Given the description of an element on the screen output the (x, y) to click on. 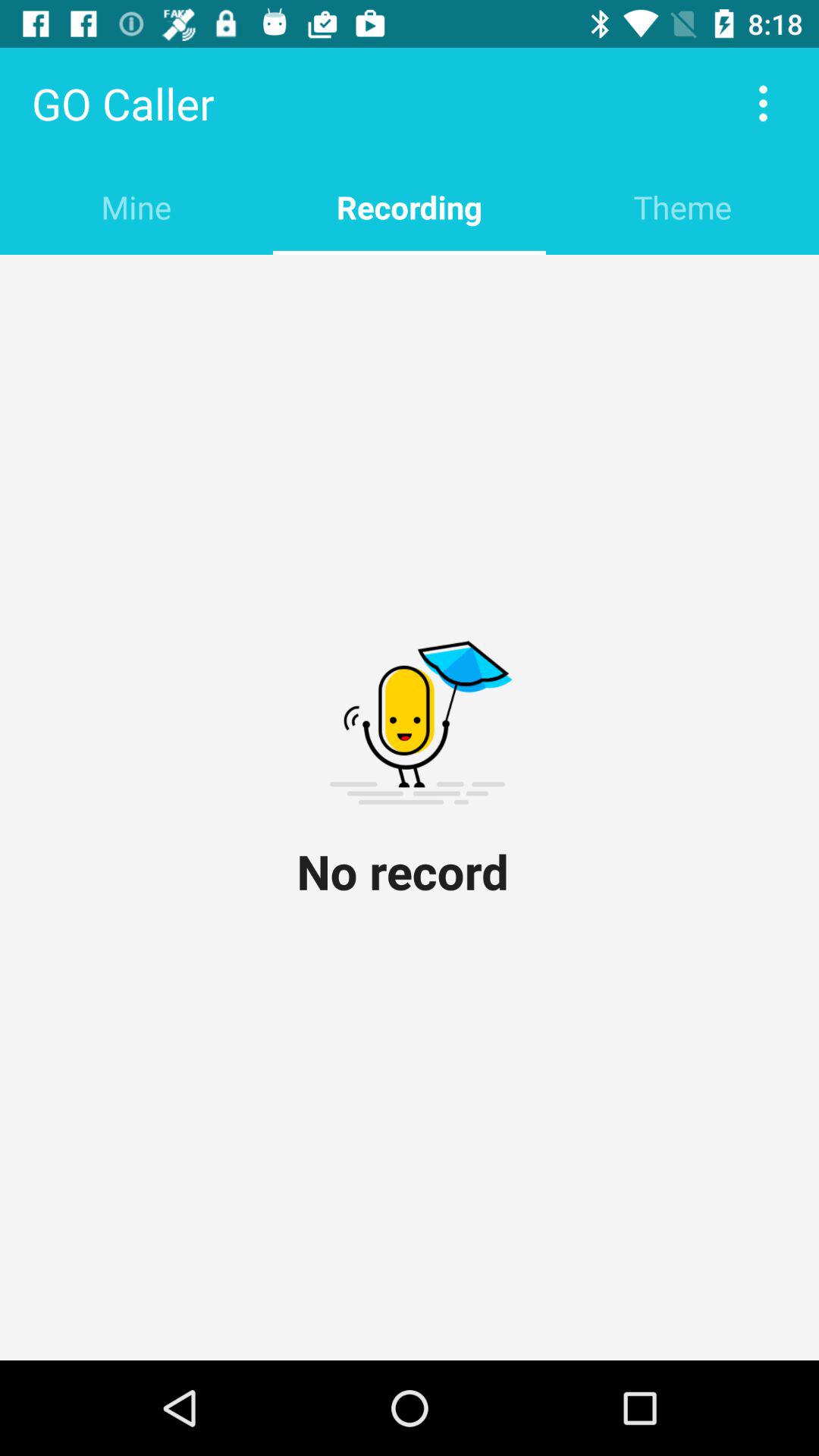
scroll to the mine item (136, 206)
